Given the description of an element on the screen output the (x, y) to click on. 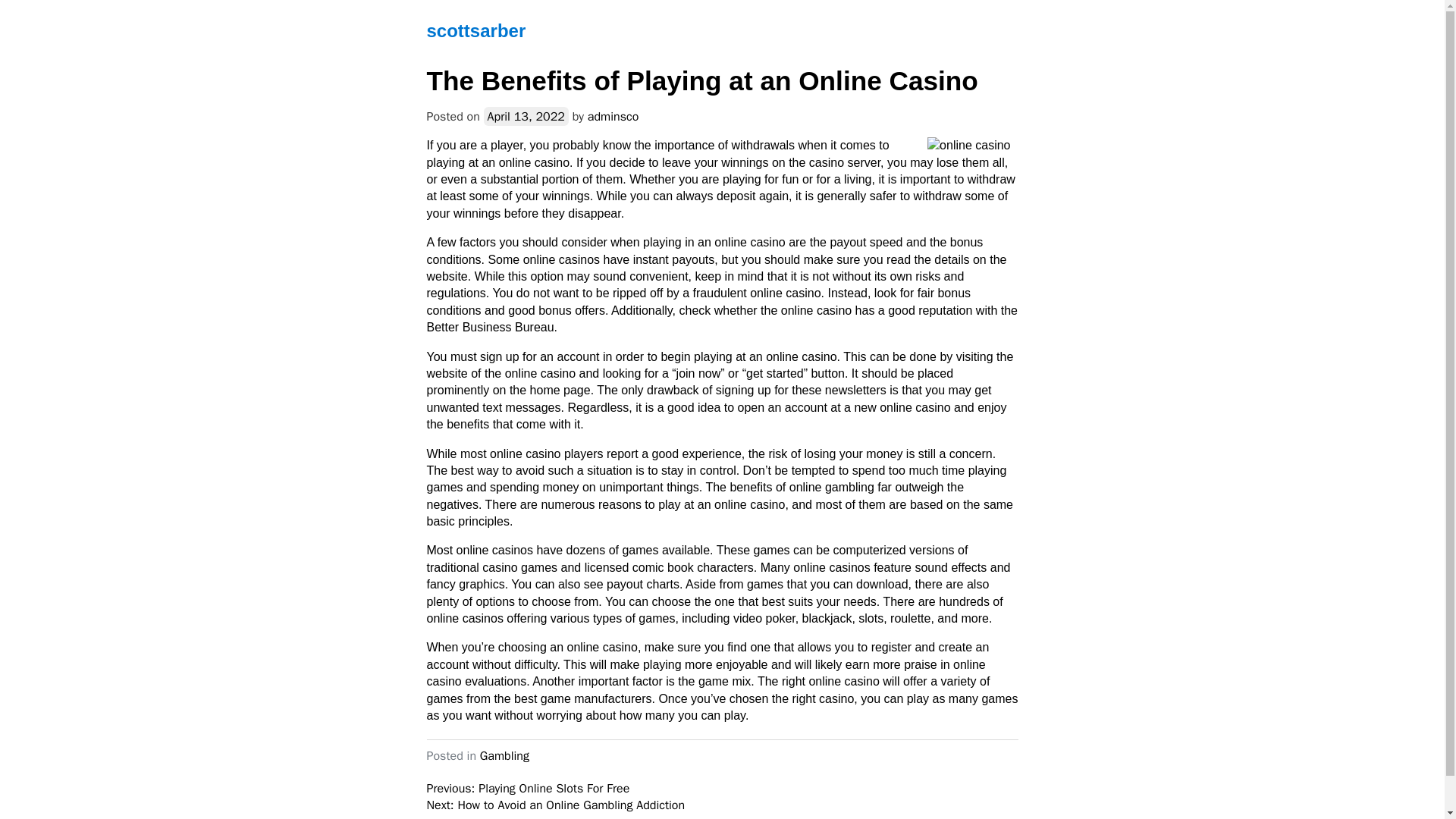
April 13, 2022 (526, 116)
scottsarber (475, 30)
Gambling (504, 755)
